Given the description of an element on the screen output the (x, y) to click on. 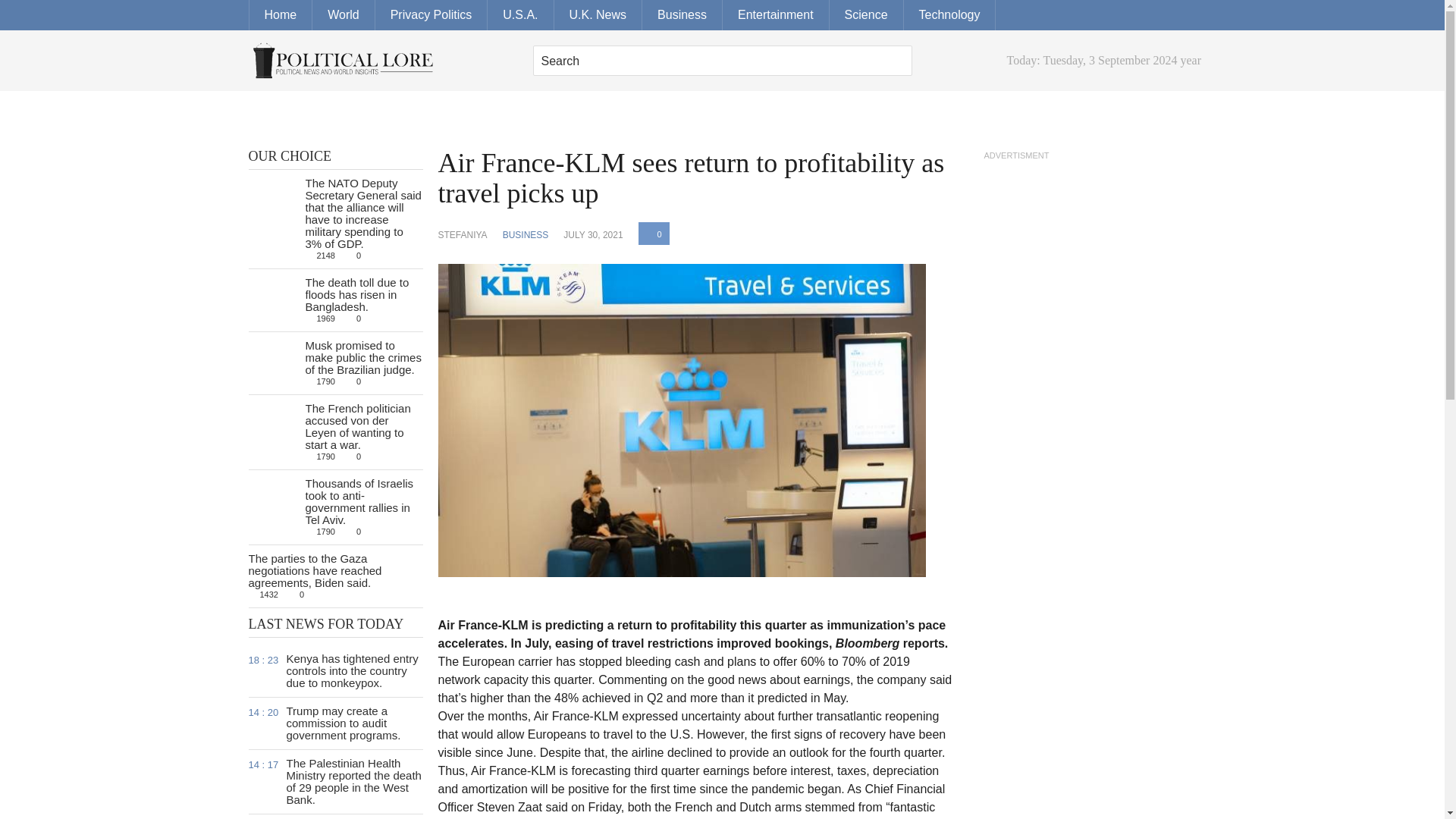
The death toll due to floods has risen in Bangladesh. (356, 294)
Home (280, 15)
World (344, 15)
Search (896, 60)
Business (682, 15)
Entertainment (775, 15)
Science (866, 15)
Privacy Politics (431, 15)
